Given the description of an element on the screen output the (x, y) to click on. 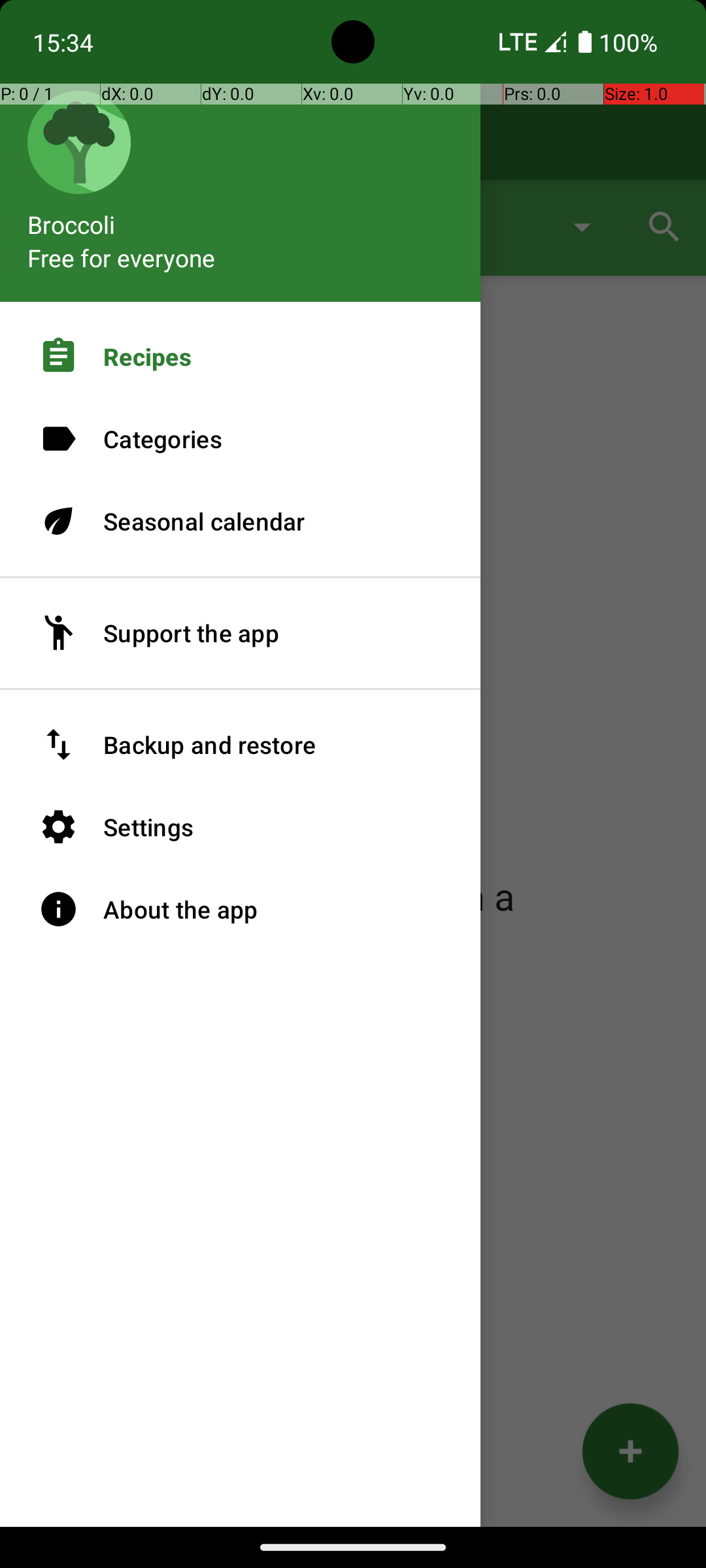
Free for everyone Element type: android.widget.TextView (121, 257)
Support the app Element type: android.widget.CheckedTextView (239, 632)
